Given the description of an element on the screen output the (x, y) to click on. 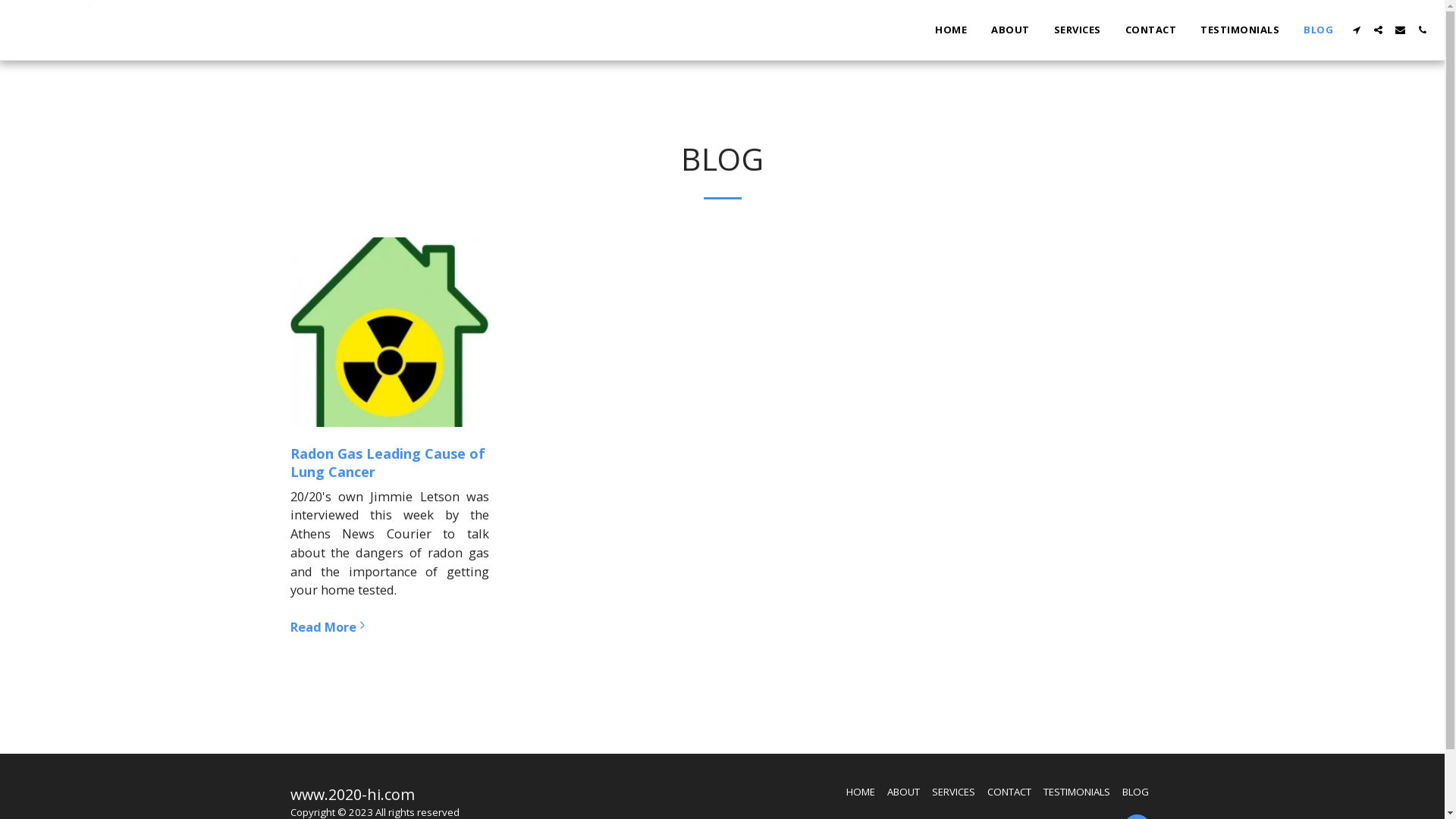
BLOG Element type: text (1135, 791)
SERVICES Element type: text (1076, 29)
SERVICES Element type: text (952, 791)
HOME Element type: text (950, 29)
ABOUT Element type: text (1010, 29)
TESTIMONIALS Element type: text (1239, 29)
TESTIMONIALS Element type: text (1076, 791)
CONTACT Element type: text (1009, 791)
ABOUT Element type: text (903, 791)
  Element type: text (1378, 29)
CONTACT Element type: text (1150, 29)
  Element type: text (1422, 29)
Radon Gas Leading Cause of Lung Cancer Element type: text (386, 462)
HOME Element type: text (860, 791)
BLOG Element type: text (1318, 29)
  Element type: text (1356, 29)
  Element type: text (1400, 29)
Read More
  Element type: text (389, 627)
